Given the description of an element on the screen output the (x, y) to click on. 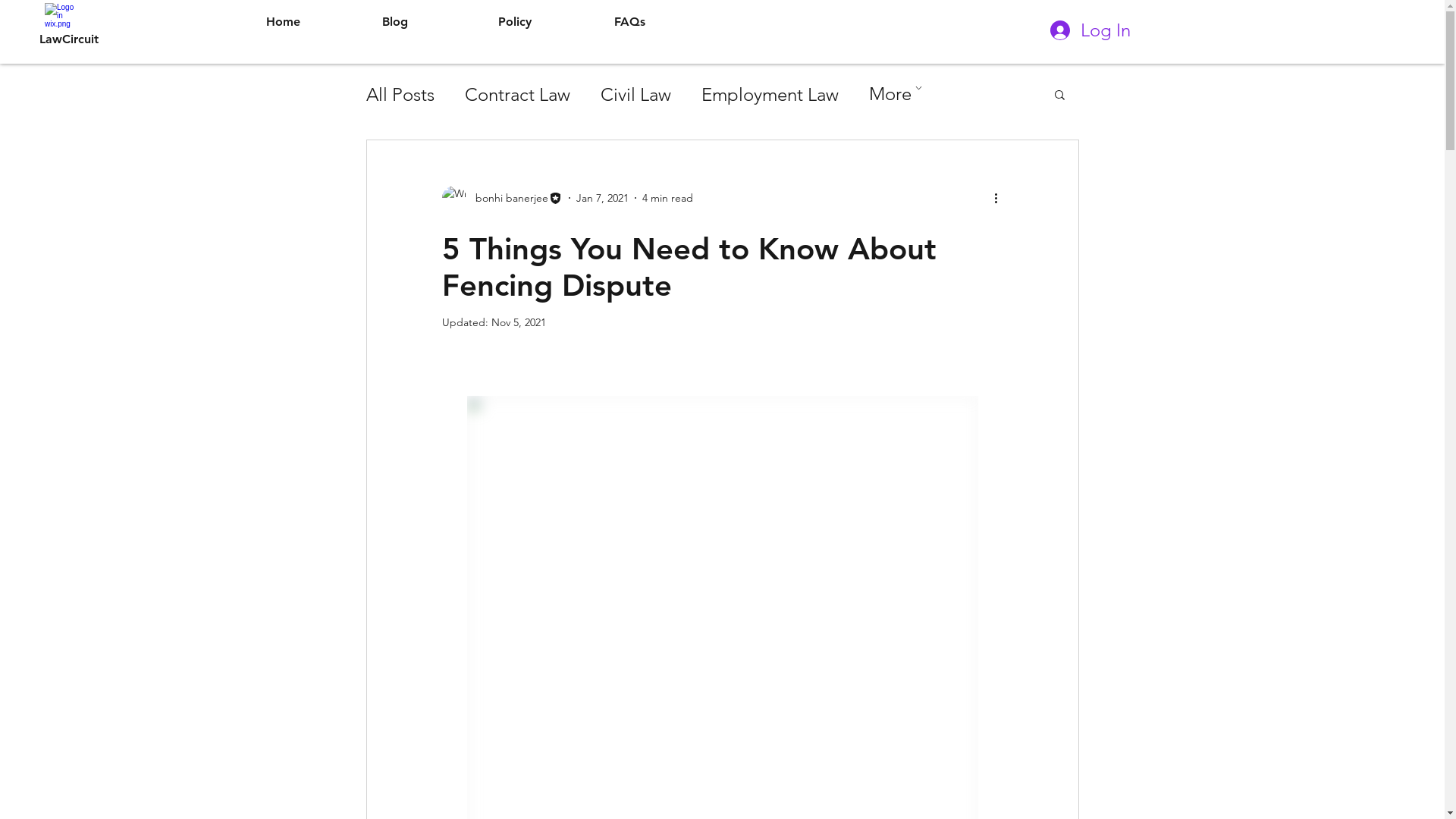
Log In Element type: text (1089, 29)
LawCircuit Element type: text (68, 38)
Employment Law Element type: text (768, 94)
Property Law Element type: text (921, 94)
All Posts Element type: text (399, 94)
Policy Element type: text (548, 21)
Blog Element type: text (432, 21)
bonhi banerjee Element type: text (501, 197)
Civil Law Element type: text (635, 94)
FAQs Element type: text (664, 21)
Home Element type: text (316, 21)
Contract Law Element type: text (516, 94)
